Given the description of an element on the screen output the (x, y) to click on. 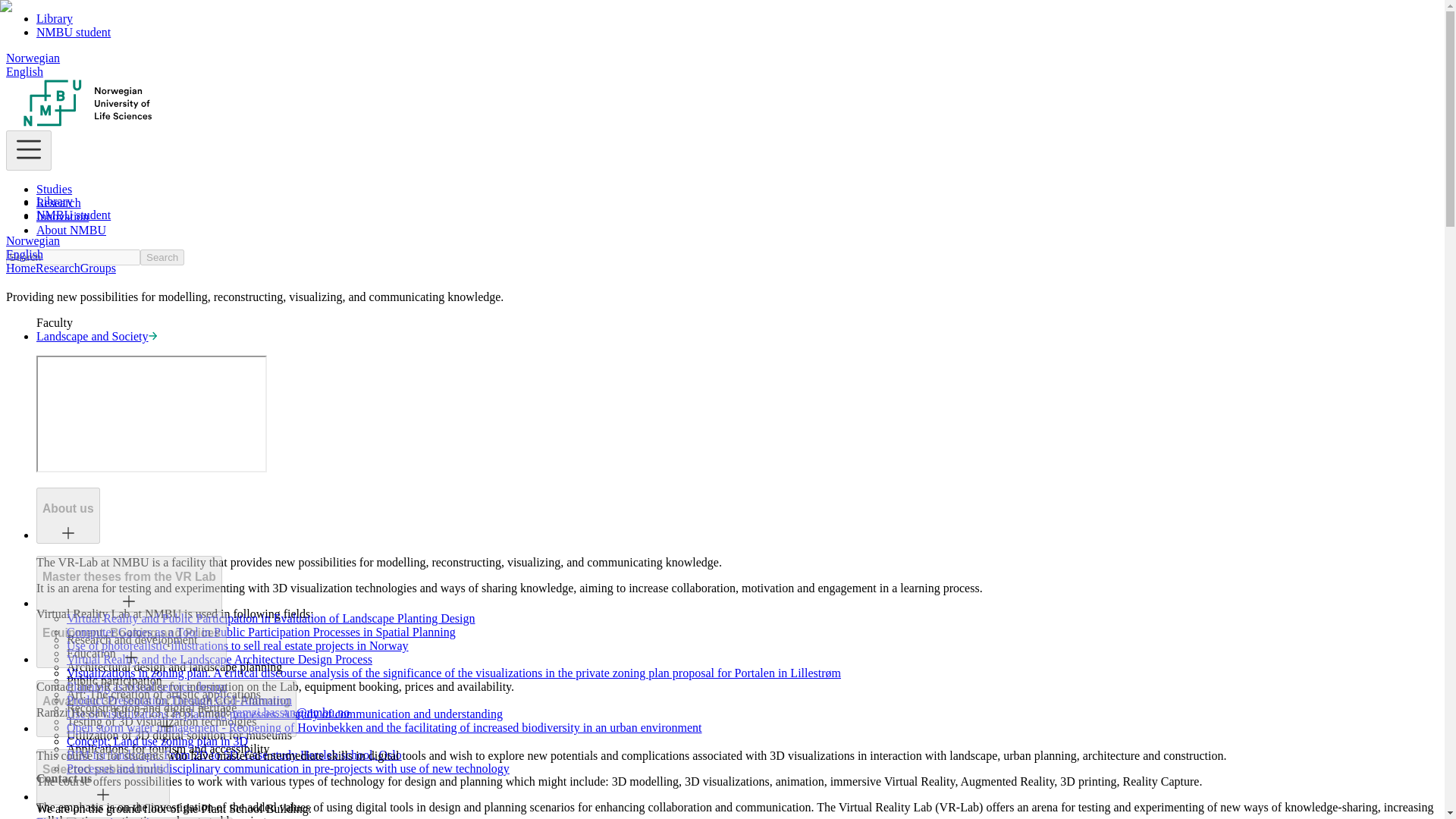
NMBU student (73, 31)
Innovation (62, 215)
Norwegian (32, 57)
NMBU student (73, 214)
About us (68, 515)
NMBU (87, 123)
Landscape and Society (96, 336)
Product Presentation Through CGI-Animation (179, 699)
Equipment, Booking and Prices (131, 632)
YouTube (151, 413)
English (24, 254)
Equipment, Booking and Prices (131, 639)
Selected publications  (102, 769)
